Given the description of an element on the screen output the (x, y) to click on. 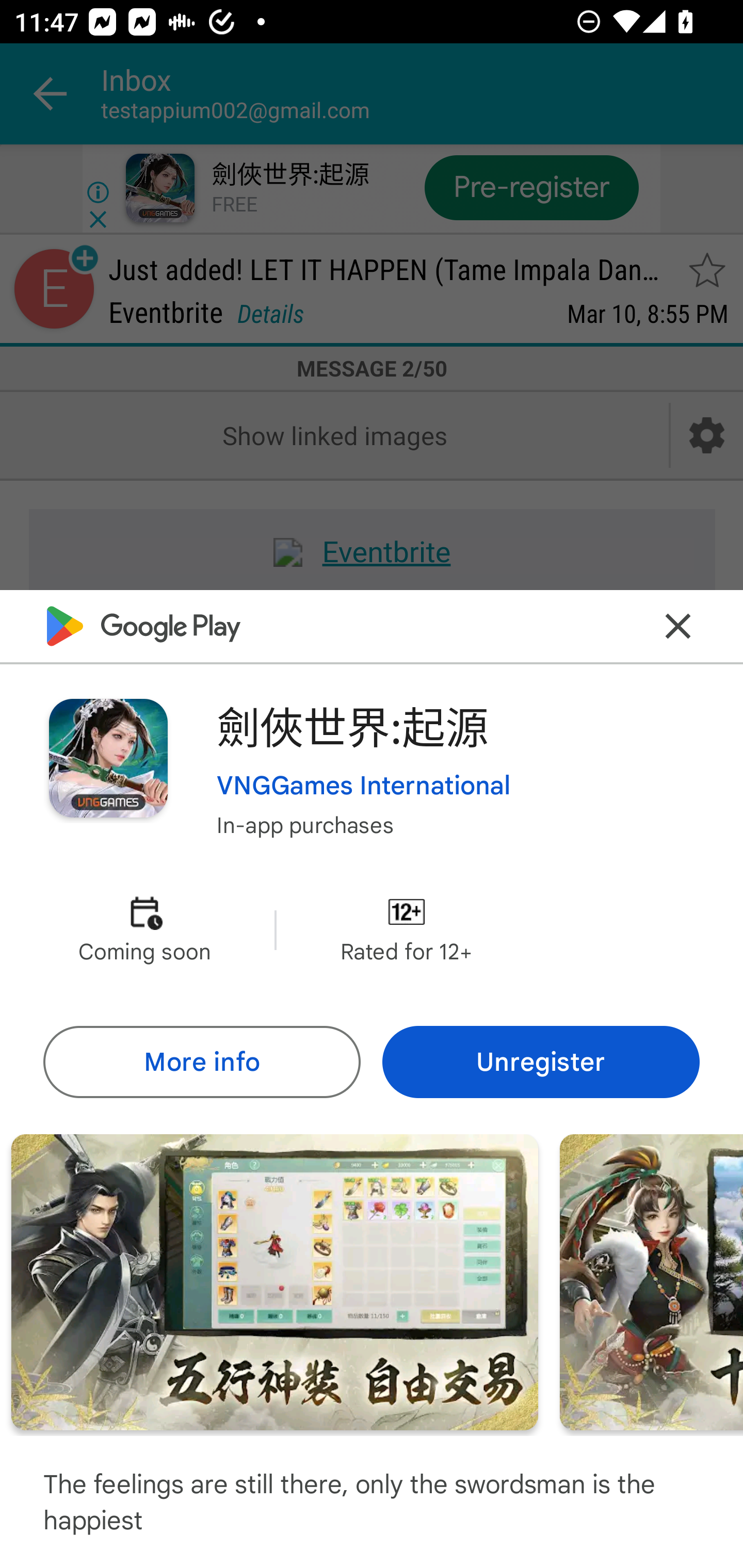
Close (677, 625)
Image of app or game icon for 劍俠世界:起源 (108, 758)
VNGGames International (363, 784)
More info (201, 1061)
Unregister (540, 1061)
Screenshot "2" of "5" (274, 1281)
